Given the description of an element on the screen output the (x, y) to click on. 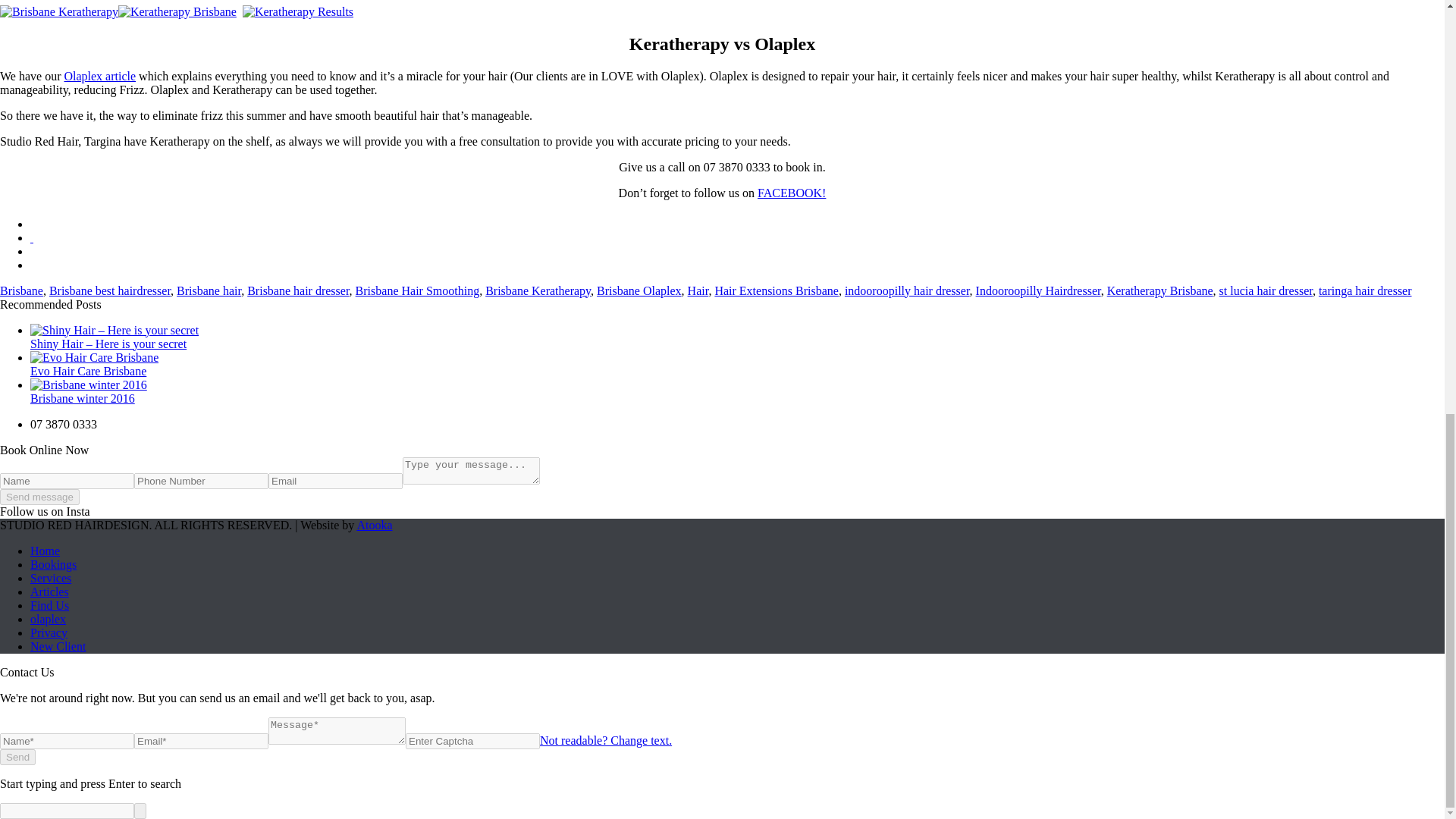
Brisbane hair dresser (298, 290)
Brisbane (21, 290)
Brisbane best hairdresser (109, 290)
FACEBOOK! (791, 192)
Brisbane hair (208, 290)
Olaplex article (99, 75)
